Given the description of an element on the screen output the (x, y) to click on. 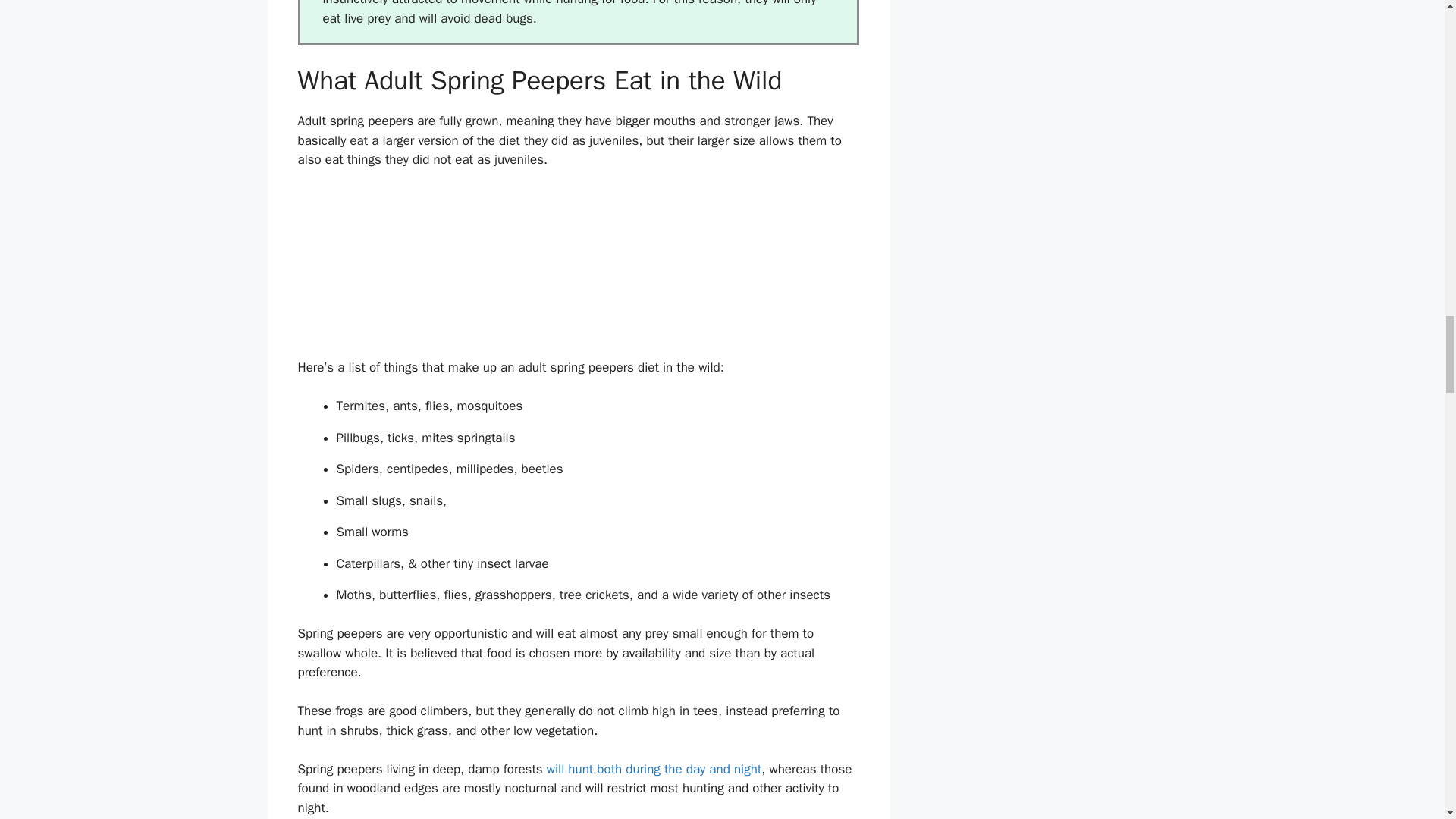
will hunt both during the day and night (654, 769)
